Given the description of an element on the screen output the (x, y) to click on. 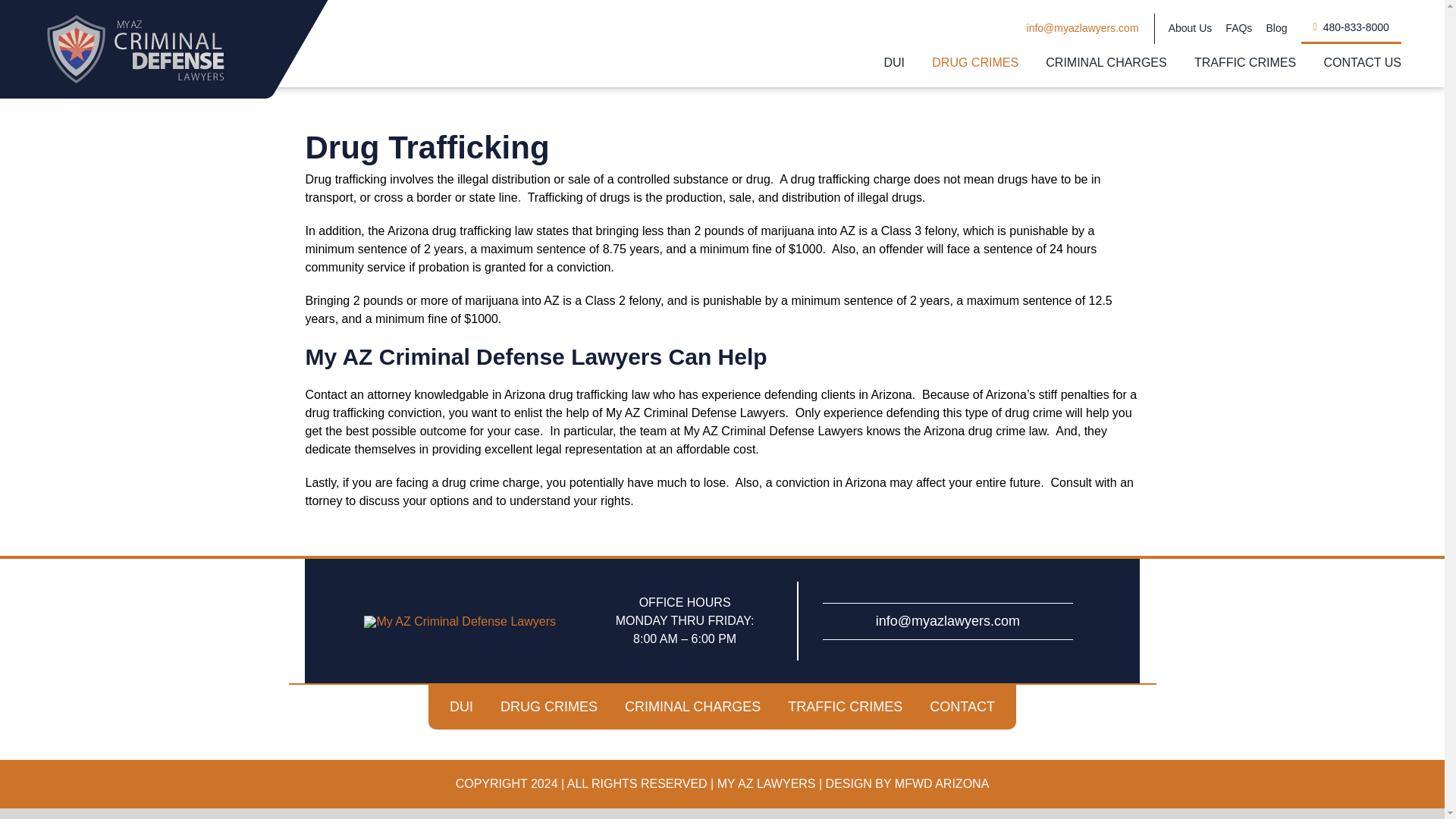
480-833-8000 (1350, 28)
DRUG CRIMES (974, 62)
DUI (894, 62)
About Us (1190, 28)
